Given the description of an element on the screen output the (x, y) to click on. 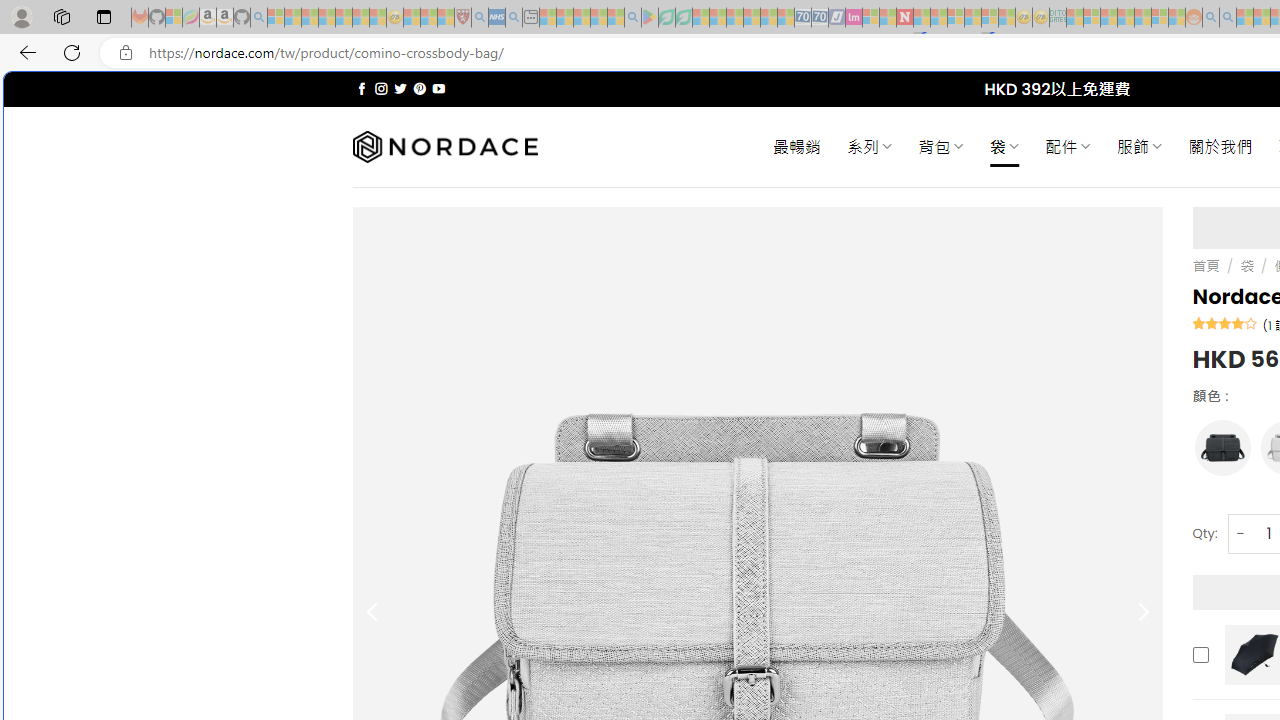
Follow on Facebook (361, 88)
